Given the description of an element on the screen output the (x, y) to click on. 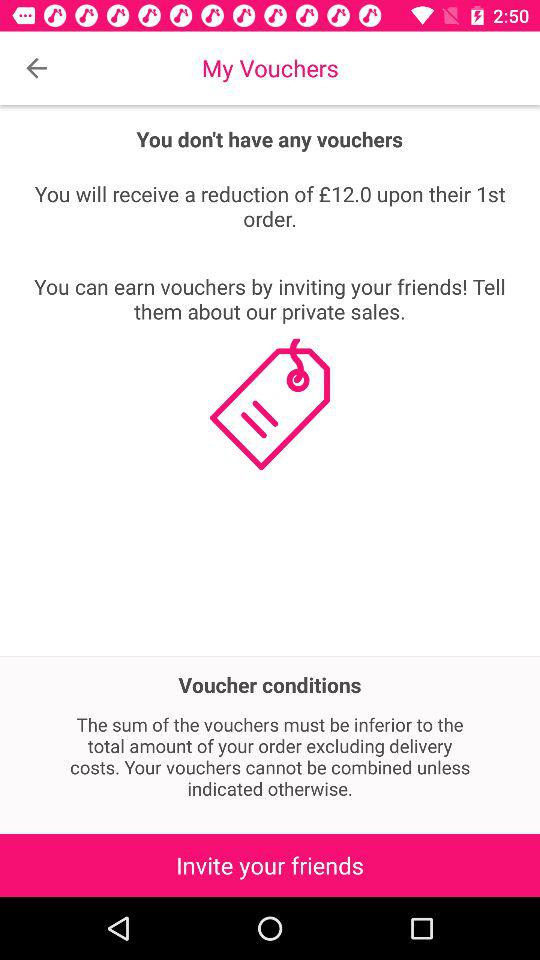
click icon to the left of the my vouchers icon (36, 68)
